Given the description of an element on the screen output the (x, y) to click on. 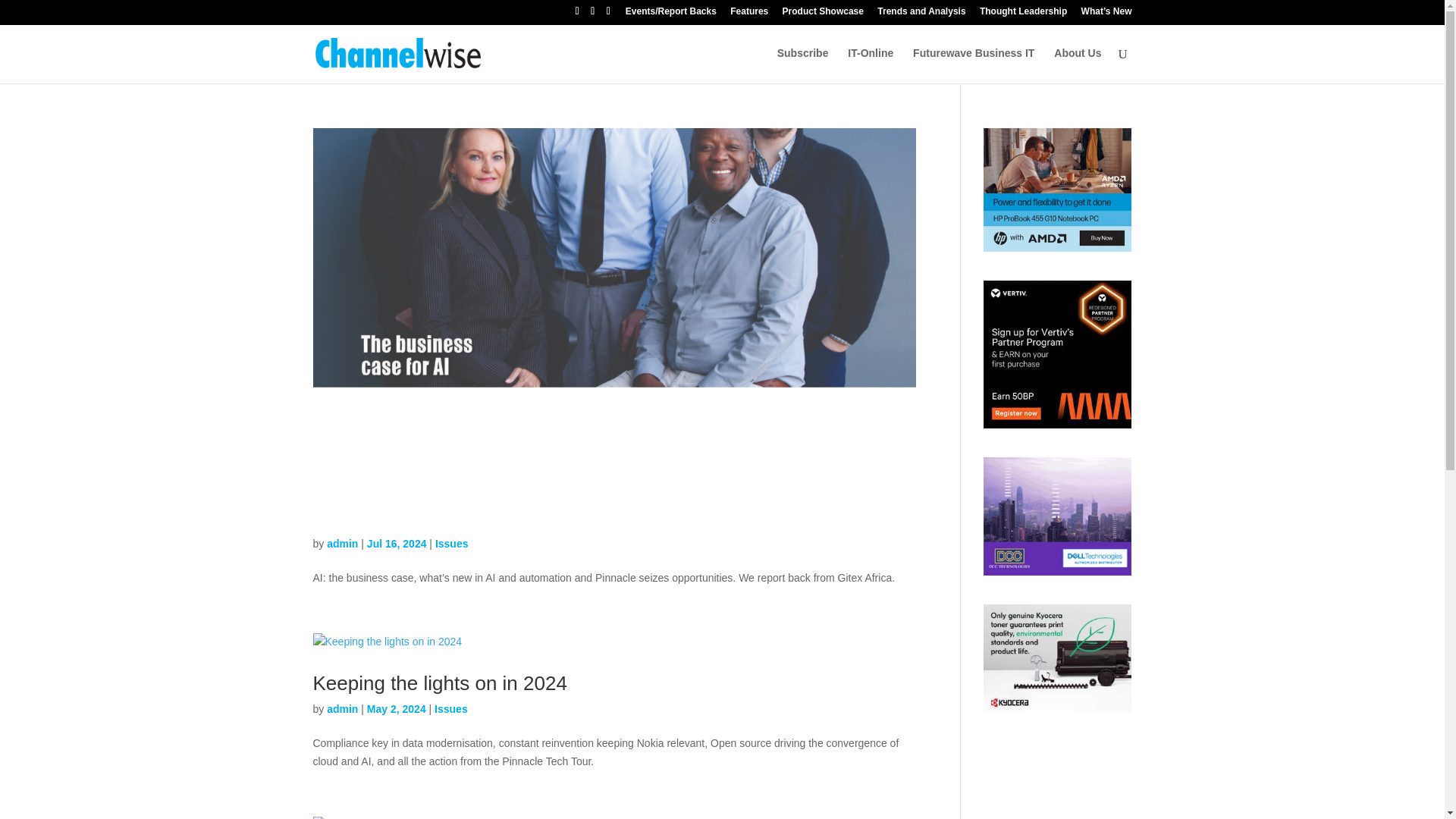
About Us (1077, 65)
Trends and Analysis (921, 14)
Issues (450, 708)
Keeping the lights on in 2024 (439, 682)
Posts by admin (342, 543)
Futurewave Business IT (972, 65)
Features (749, 14)
Product Showcase (823, 14)
admin (342, 543)
Posts by admin (342, 708)
